Given the description of an element on the screen output the (x, y) to click on. 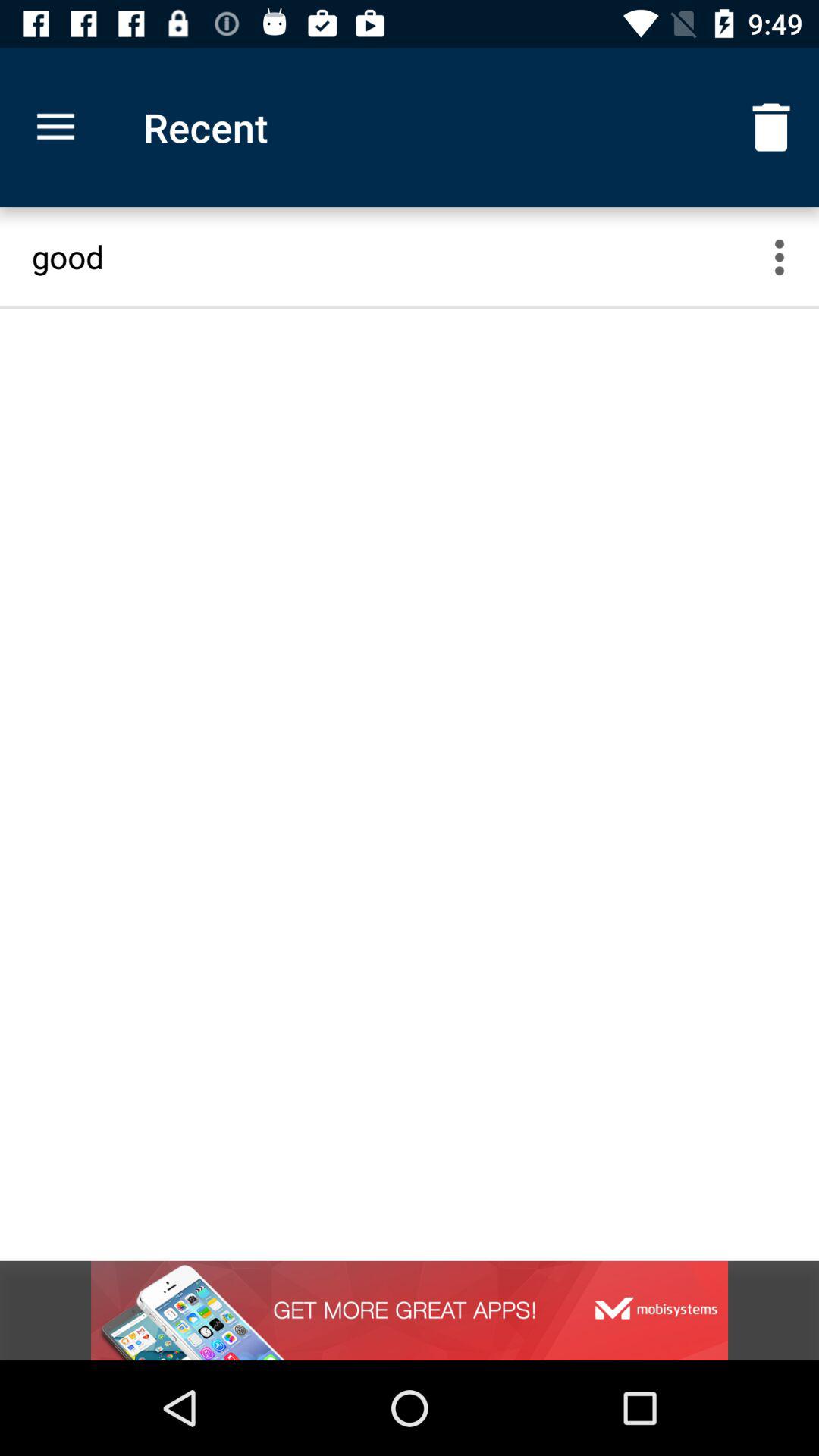
click the item below good icon (409, 1310)
